Given the description of an element on the screen output the (x, y) to click on. 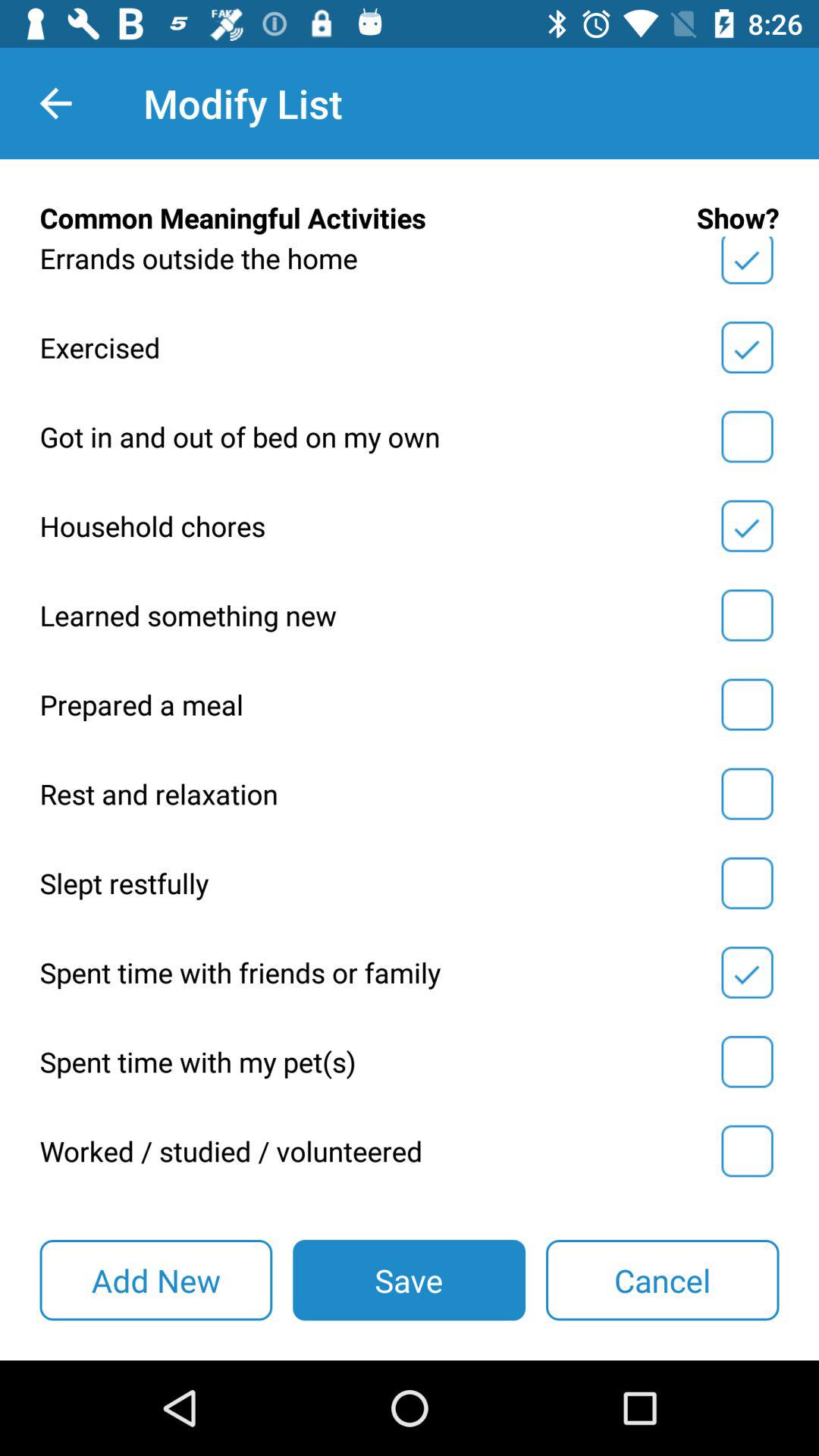
option toggle (747, 793)
